Given the description of an element on the screen output the (x, y) to click on. 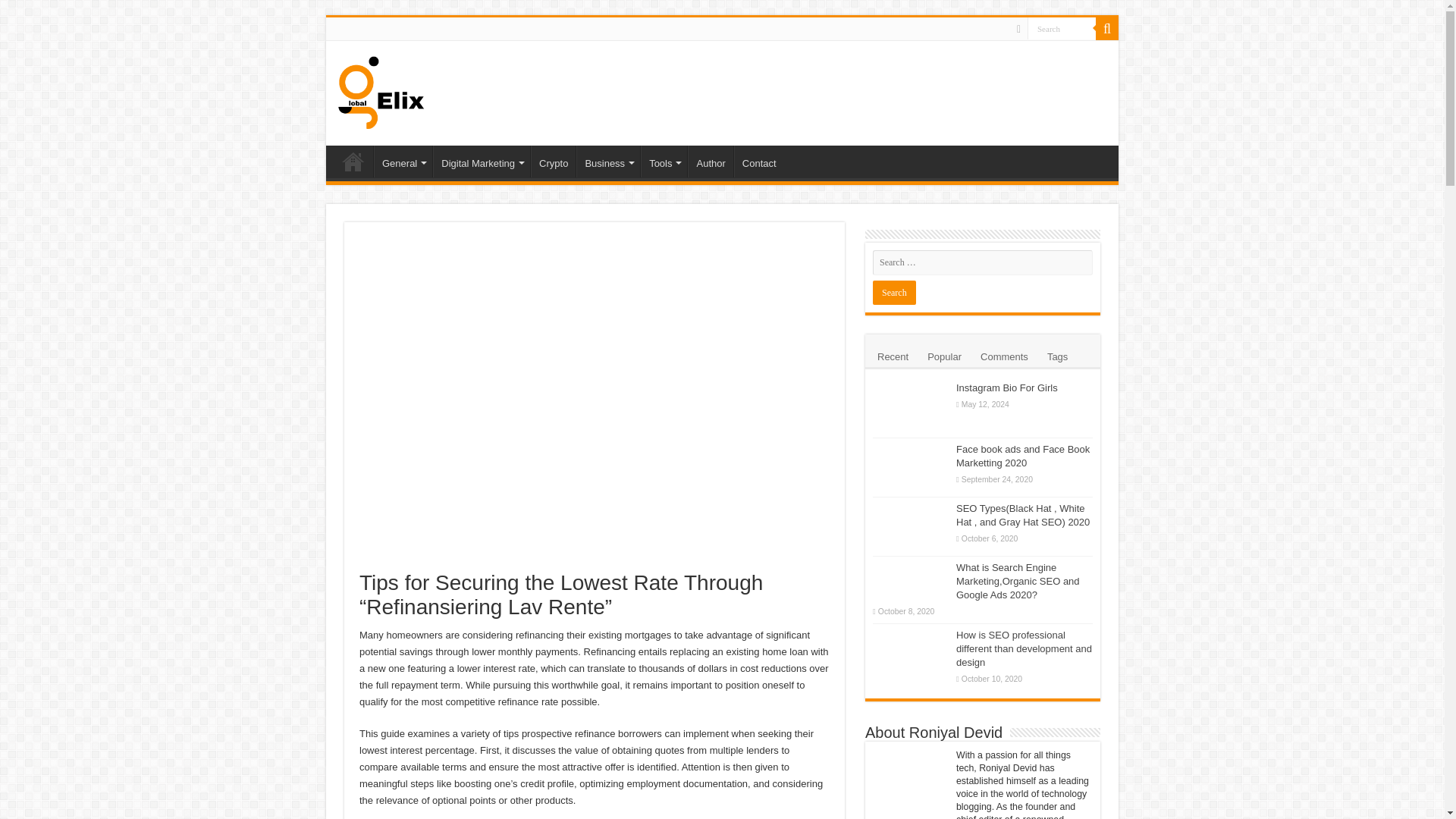
Crypto (553, 161)
Tools (663, 161)
Search (1061, 28)
Search (893, 292)
Search (1107, 28)
Home (352, 161)
Business (608, 161)
Search (1061, 28)
Search (1061, 28)
Global Elix (381, 90)
